Given the description of an element on the screen output the (x, y) to click on. 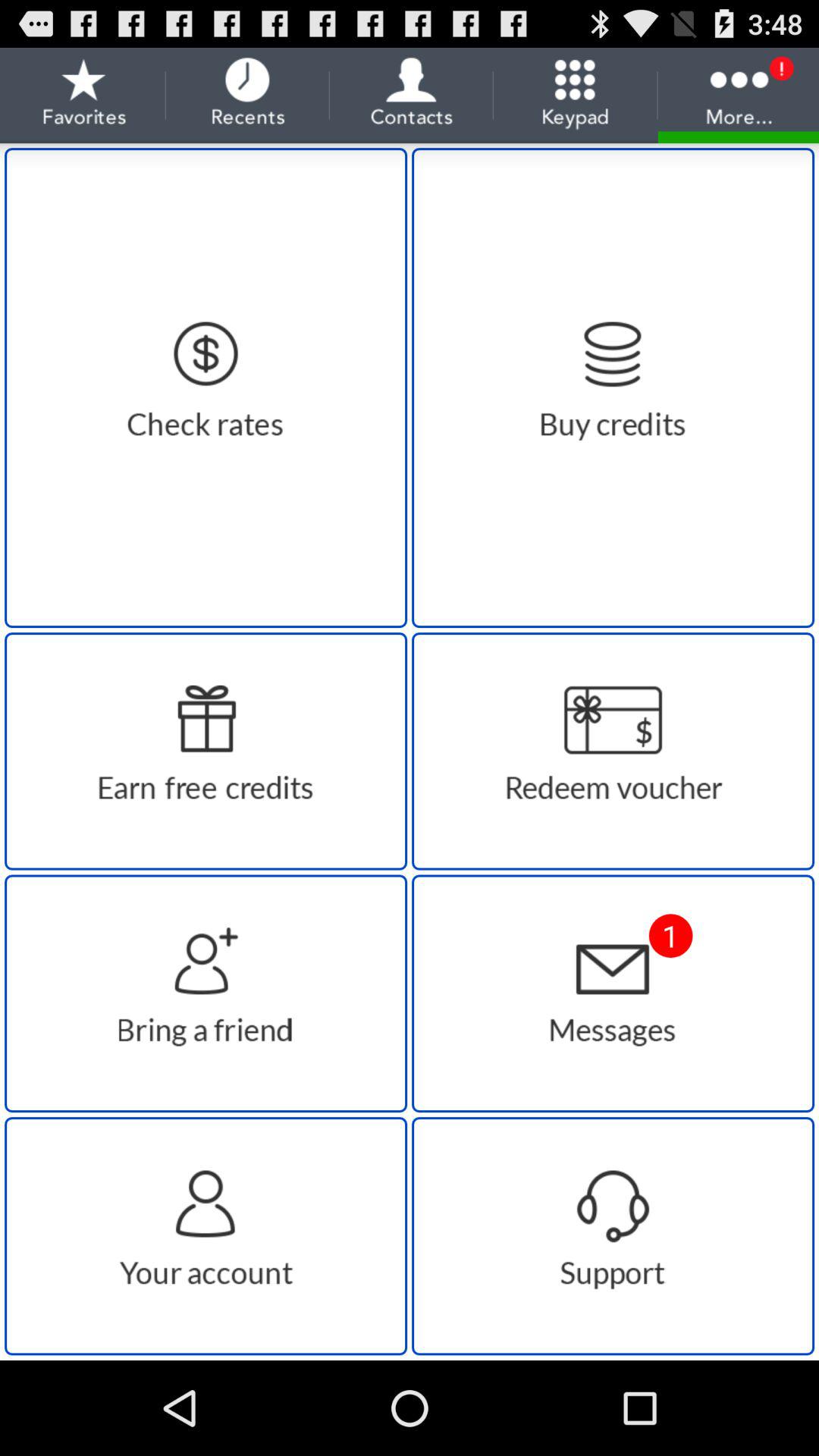
buy credits (612, 387)
